Given the description of an element on the screen output the (x, y) to click on. 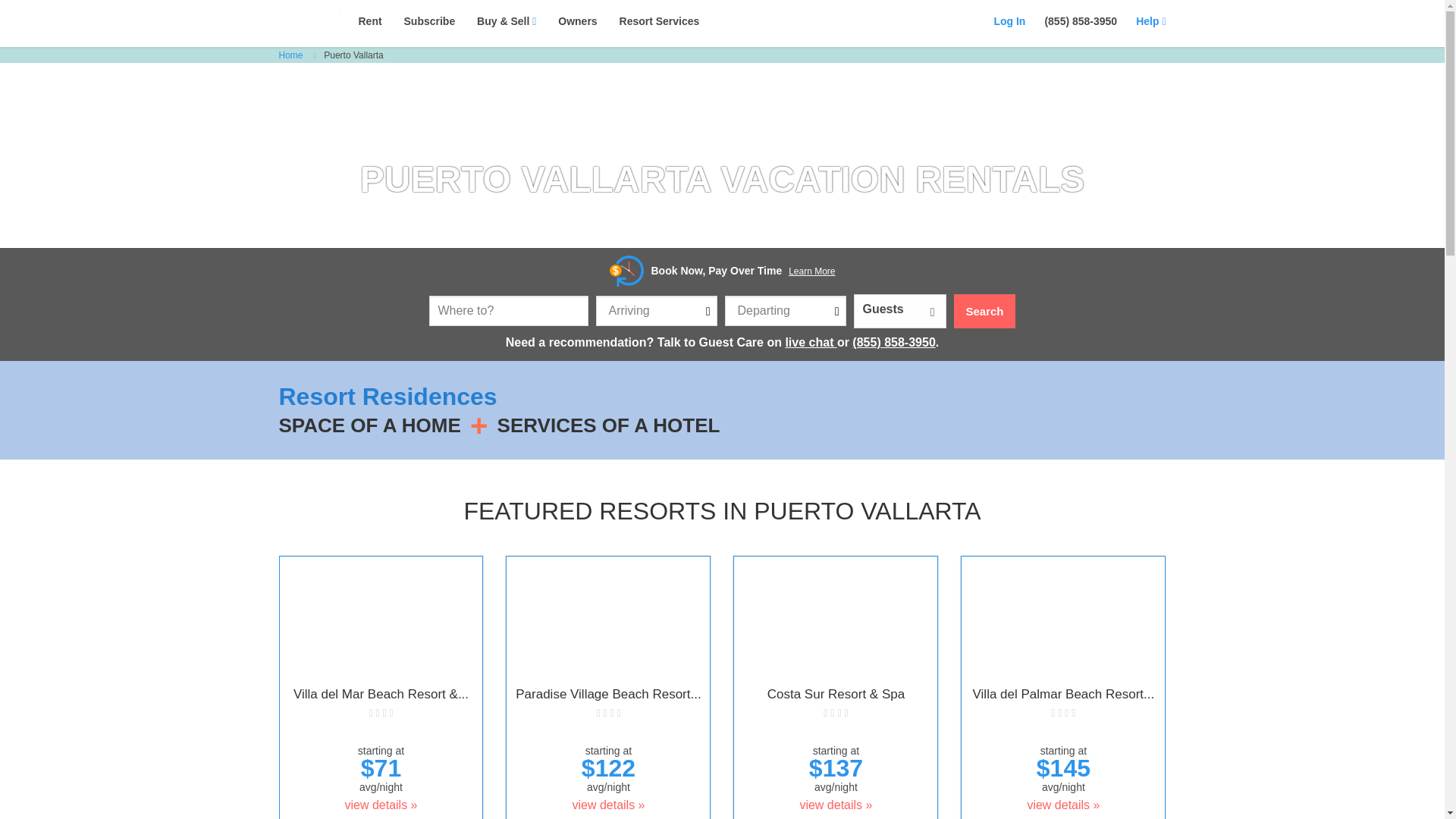
Subscribe (429, 21)
Rent (369, 21)
Resort Services (660, 21)
Help (1150, 21)
Owners (576, 21)
